Given the description of an element on the screen output the (x, y) to click on. 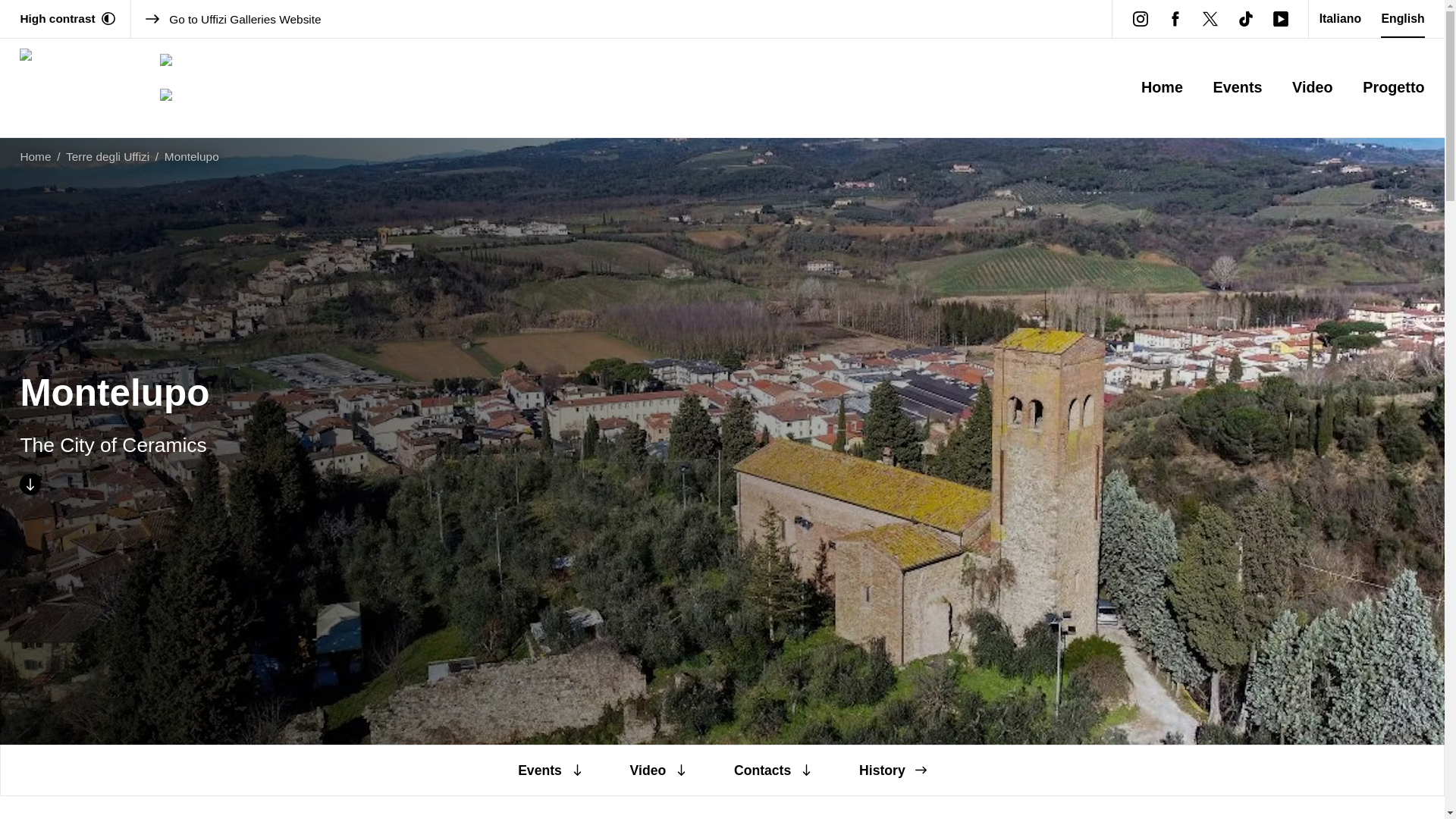
Fondazione Cassa di Risparmio di Firenze (201, 69)
English (1401, 18)
Home (35, 156)
Events (550, 770)
History (892, 770)
Video (1312, 87)
Go to Uffizi Galleries Website (620, 18)
facebook (1174, 18)
instagram (1139, 18)
History (892, 770)
Progetto (1392, 87)
Montelupo (191, 156)
youtube (1280, 18)
Italiano (1340, 18)
High contrast (67, 18)
